Given the description of an element on the screen output the (x, y) to click on. 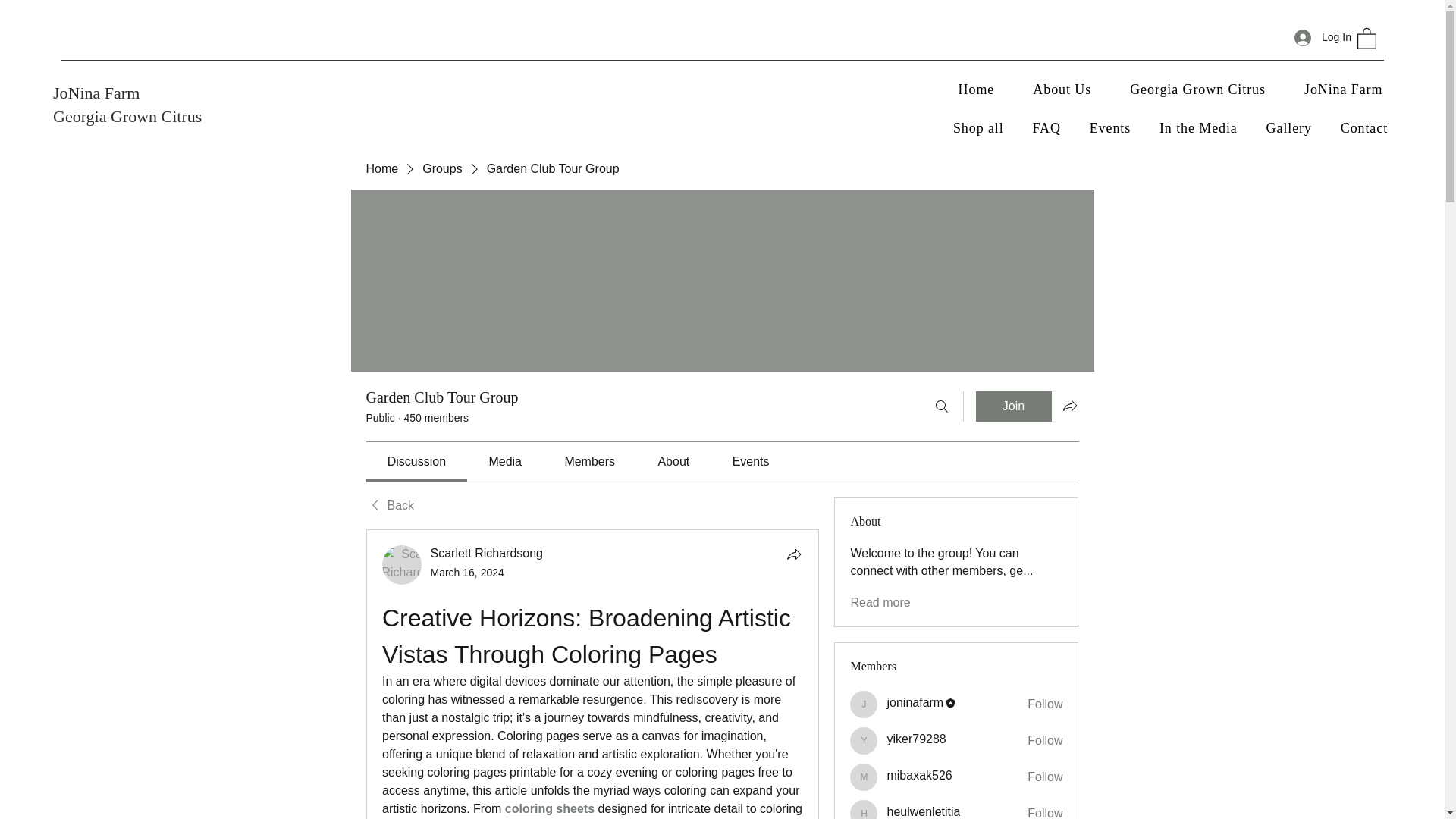
heulwenletitia (863, 809)
Shop all (978, 128)
yiker79288 (863, 740)
In the Media (1198, 128)
FAQ (1046, 128)
Georgia Grown Citrus (1197, 89)
Scarlett Richardsong (401, 564)
coloring sheets (548, 808)
Gallery (1289, 128)
Events (1109, 128)
